Given the description of an element on the screen output the (x, y) to click on. 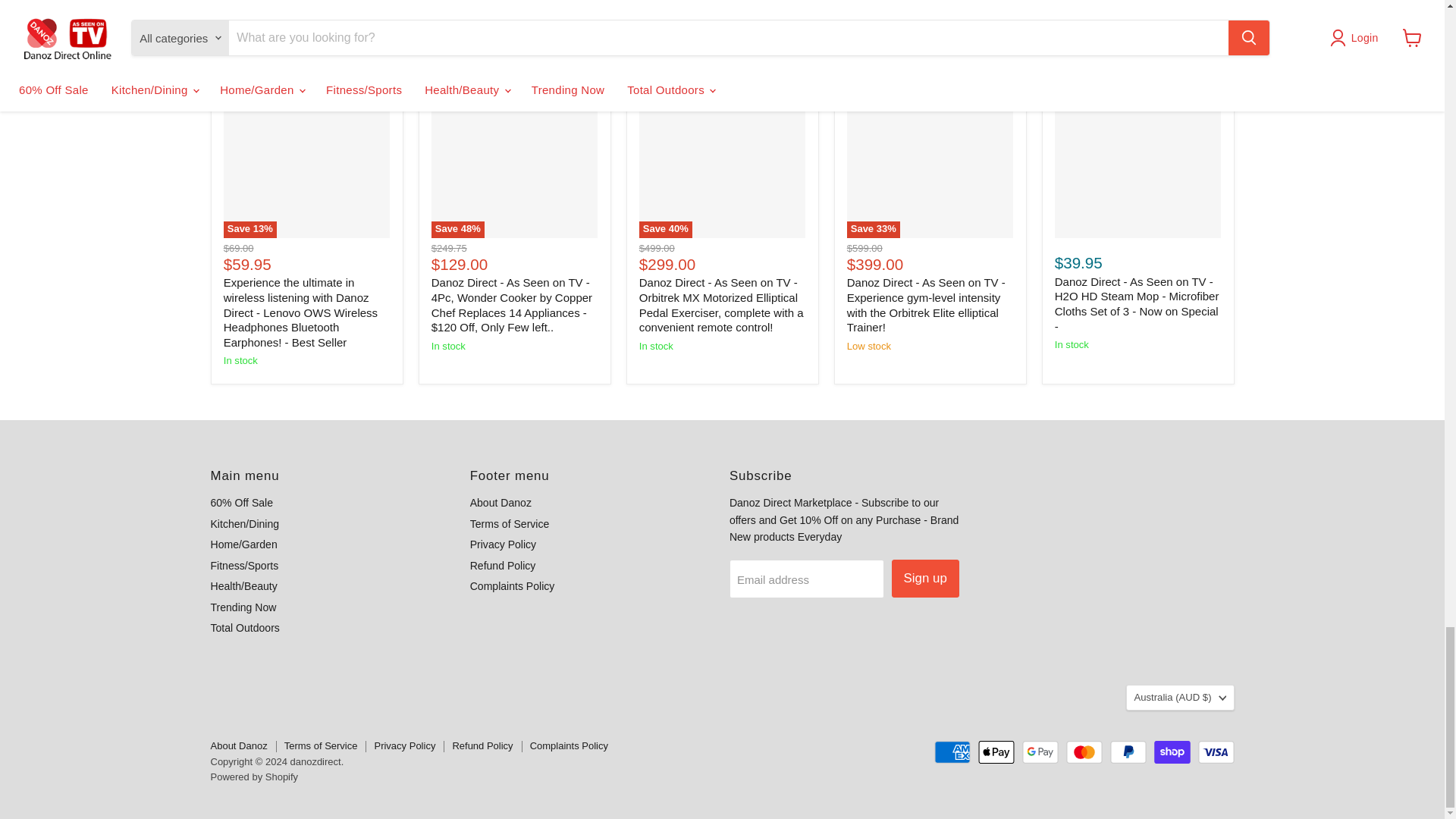
Apple Pay (996, 752)
PayPal (1128, 752)
Mastercard (1083, 752)
Google Pay (1040, 752)
American Express (952, 752)
